Given the description of an element on the screen output the (x, y) to click on. 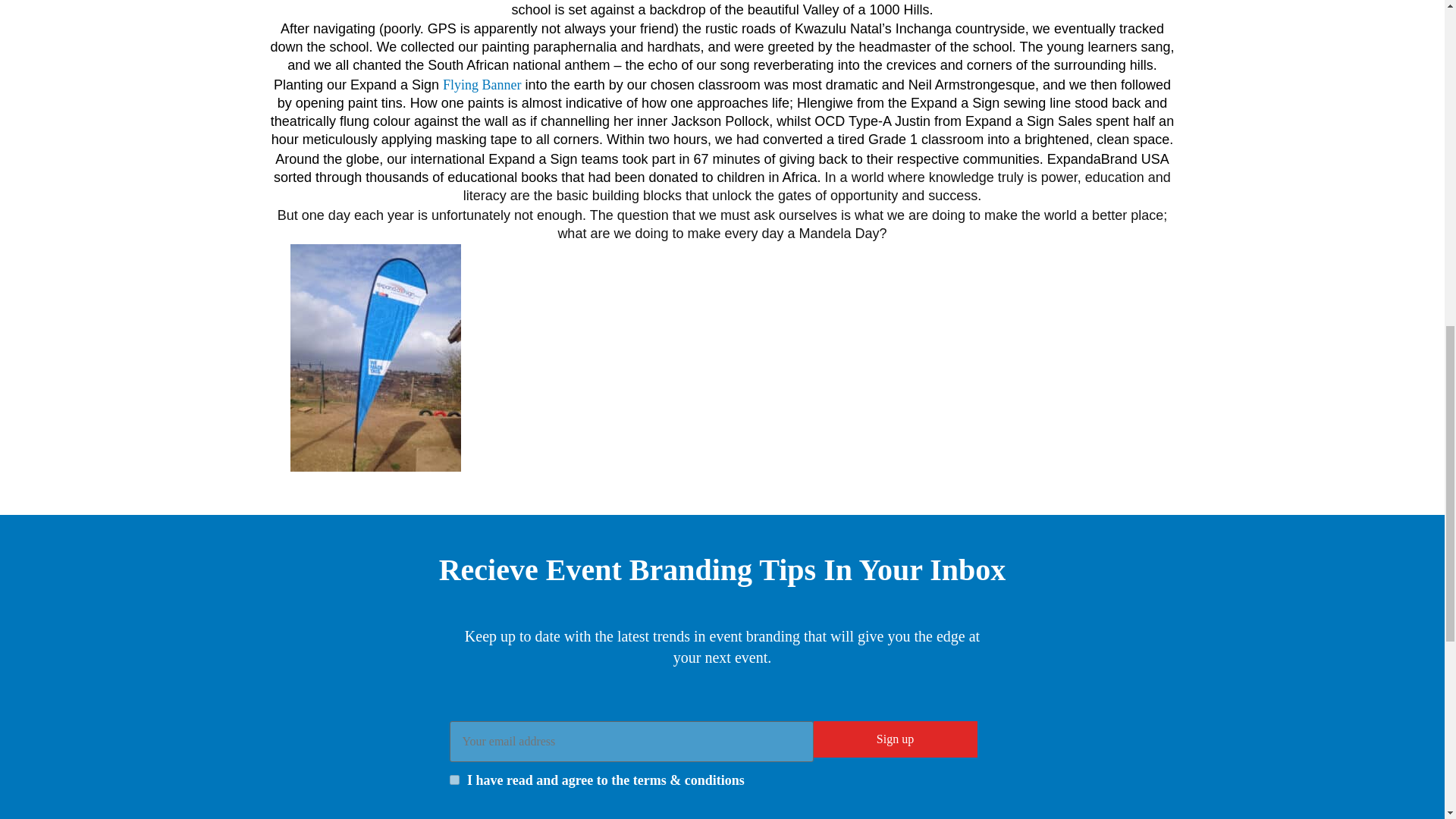
Sign up (894, 739)
1 (453, 779)
Flying Banner (481, 84)
